Given the description of an element on the screen output the (x, y) to click on. 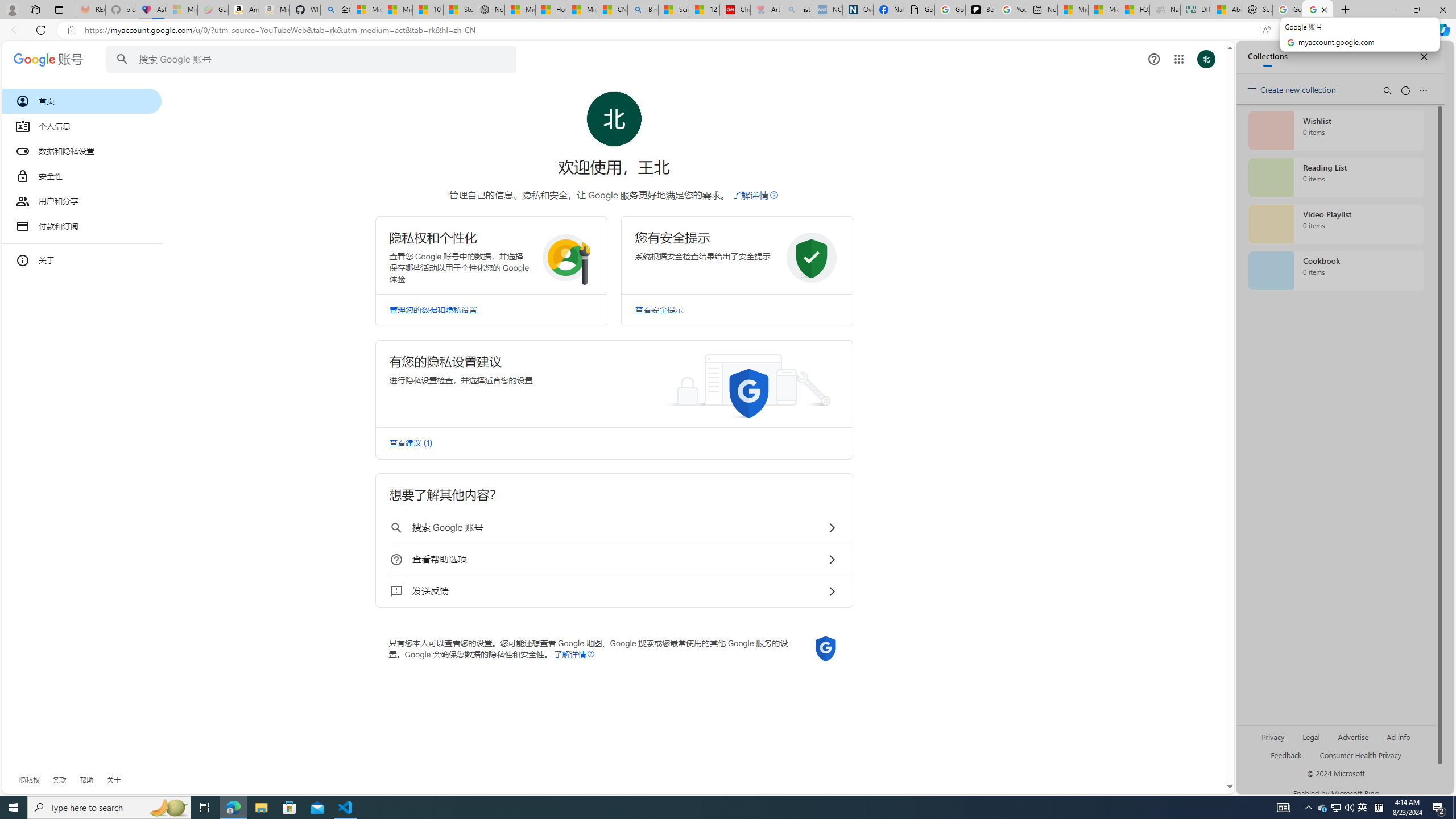
How I Got Rid of Microsoft Edge's Unnecessary Features (549, 9)
AutomationID: sb_feedback (1286, 754)
Class: gb_E (1178, 59)
